Given the description of an element on the screen output the (x, y) to click on. 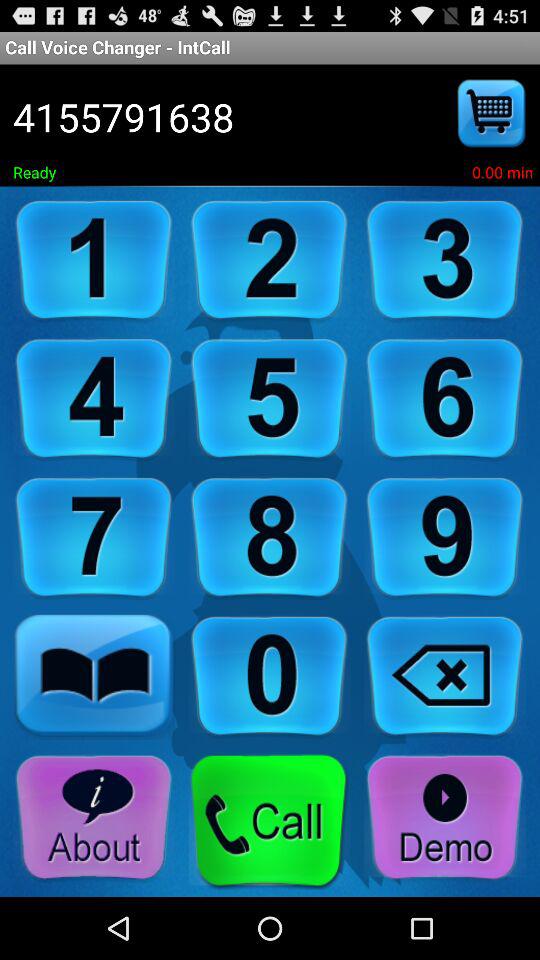
input number 7 (94, 538)
